Given the description of an element on the screen output the (x, y) to click on. 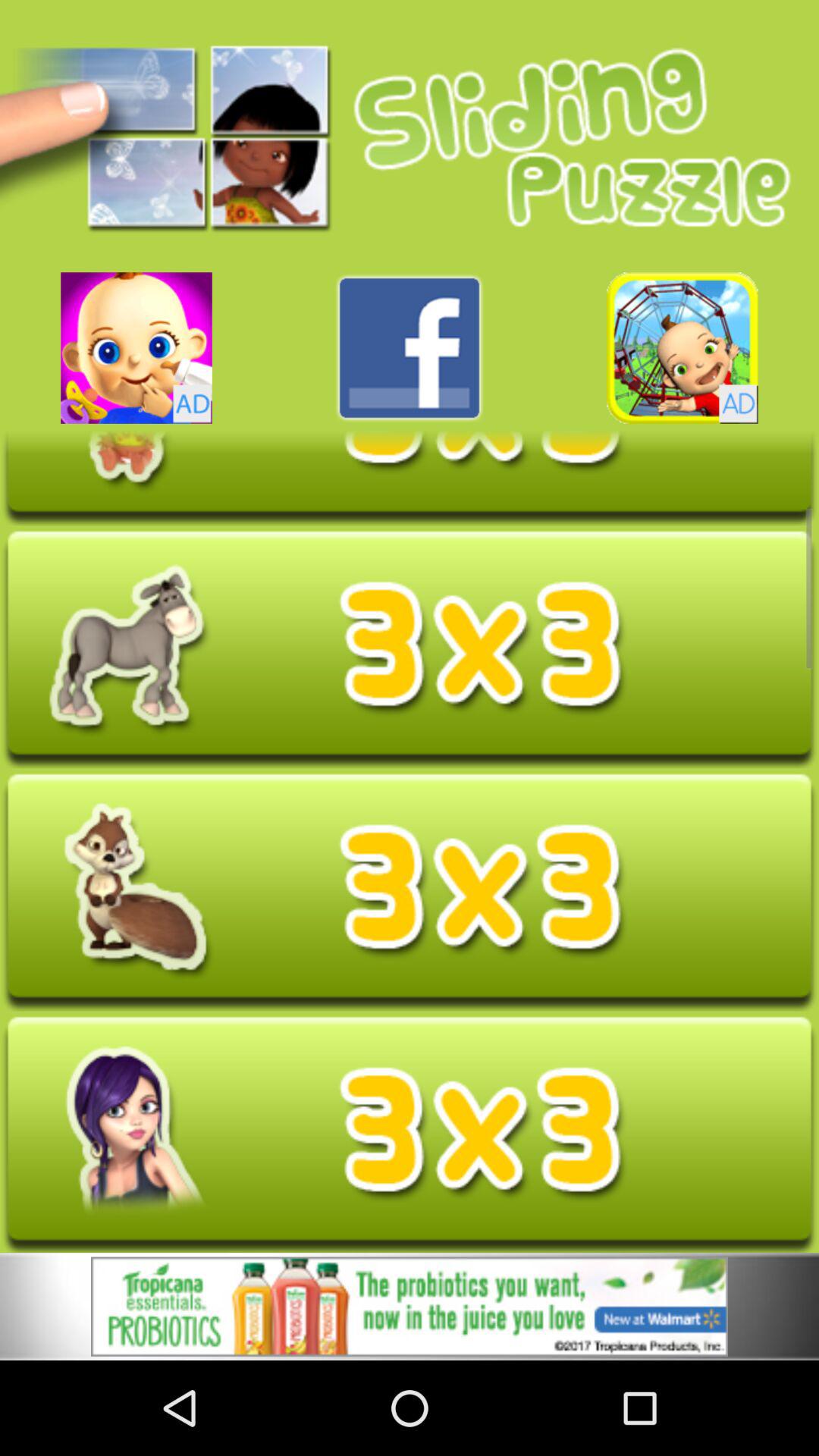
add the option (409, 1306)
